Given the description of an element on the screen output the (x, y) to click on. 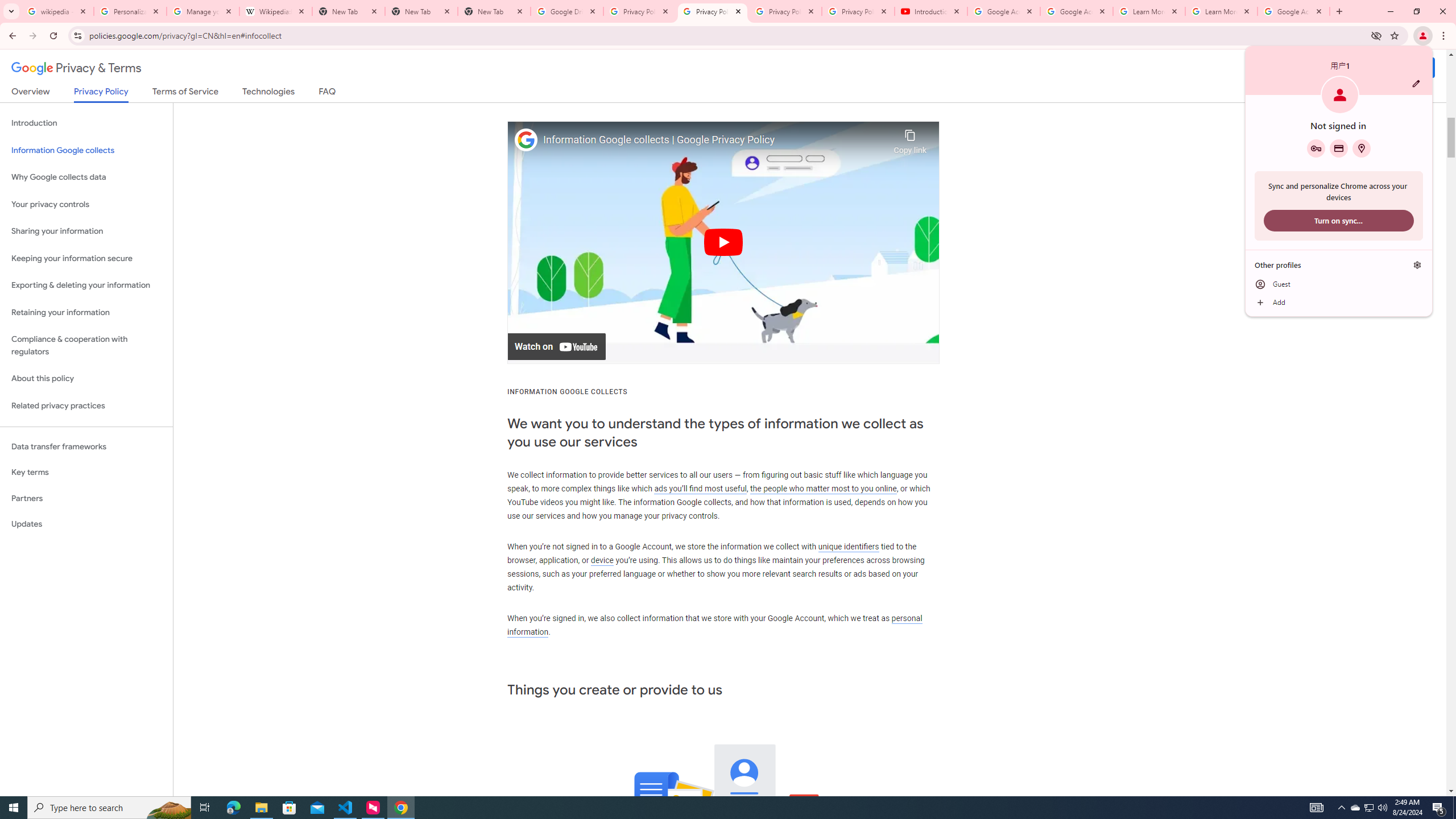
Microsoft Store (289, 807)
Customize profile (1415, 83)
Retaining your information (86, 312)
Search highlights icon opens search home window (167, 807)
User Promoted Notification Area (1368, 807)
Your privacy controls (86, 204)
Watch on YouTube (556, 346)
Notification Chevron (1341, 807)
Manage profiles (1417, 265)
New Tab (493, 11)
Add (1355, 807)
